Given the description of an element on the screen output the (x, y) to click on. 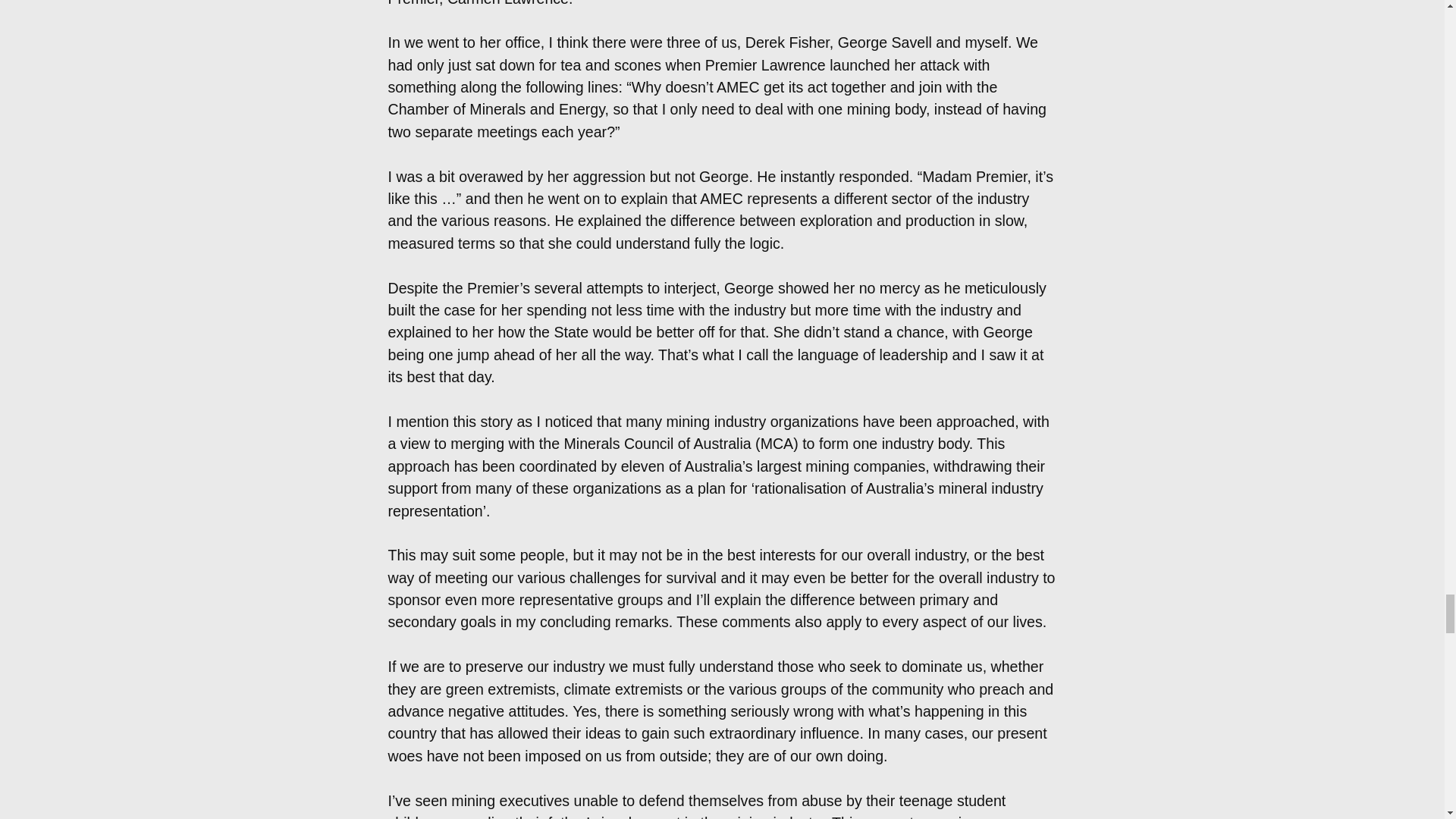
Page 15 (722, 737)
